Given the description of an element on the screen output the (x, y) to click on. 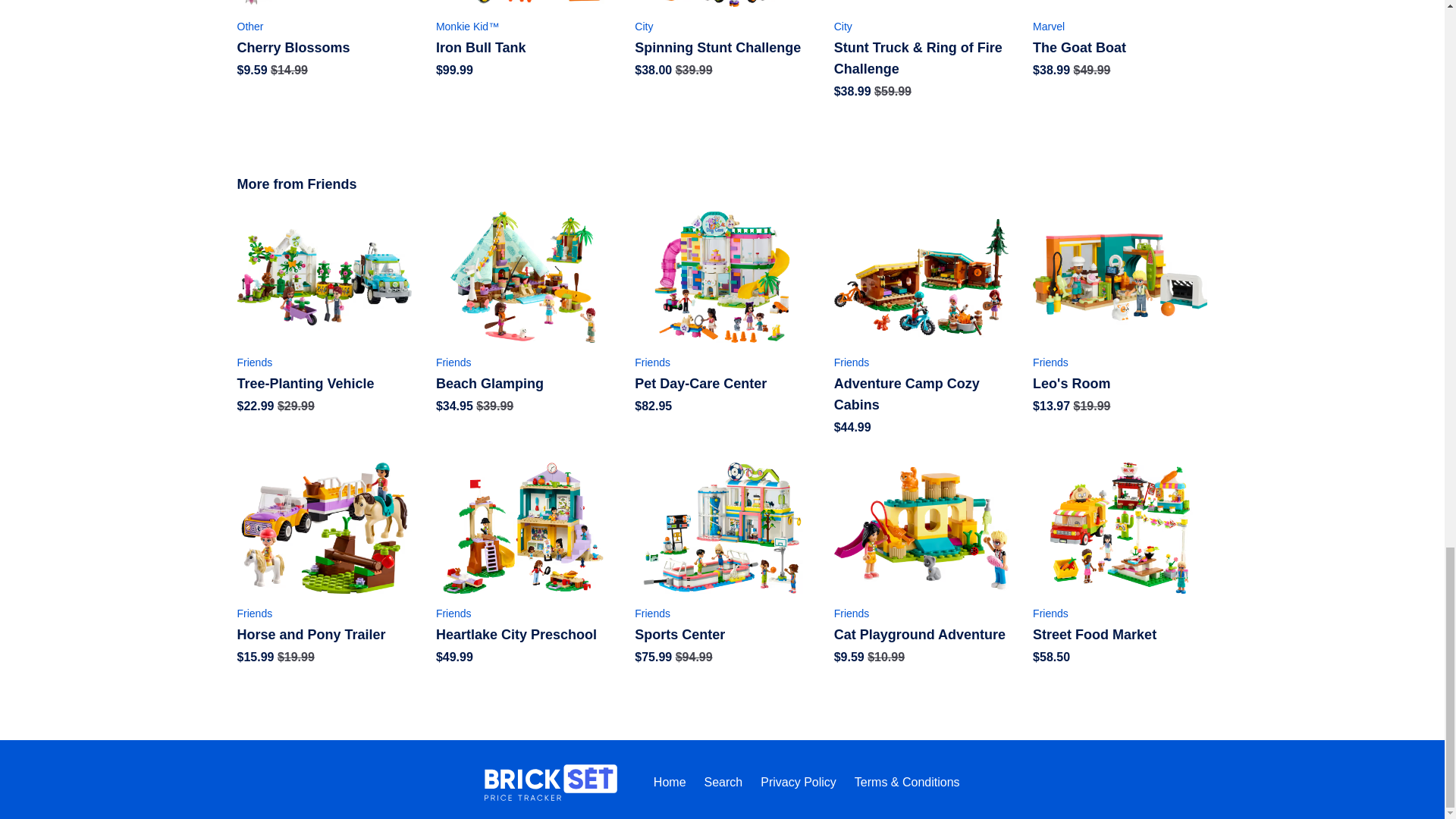
Cherry Blossoms (322, 47)
Marvel (1119, 26)
Leo's Room (1119, 383)
City (721, 26)
Beach Glamping (522, 383)
City (921, 26)
Spinning Stunt Challenge (721, 47)
Other (322, 26)
Adventure Camp Cozy Cabins (921, 394)
Friends (721, 362)
